Given the description of an element on the screen output the (x, y) to click on. 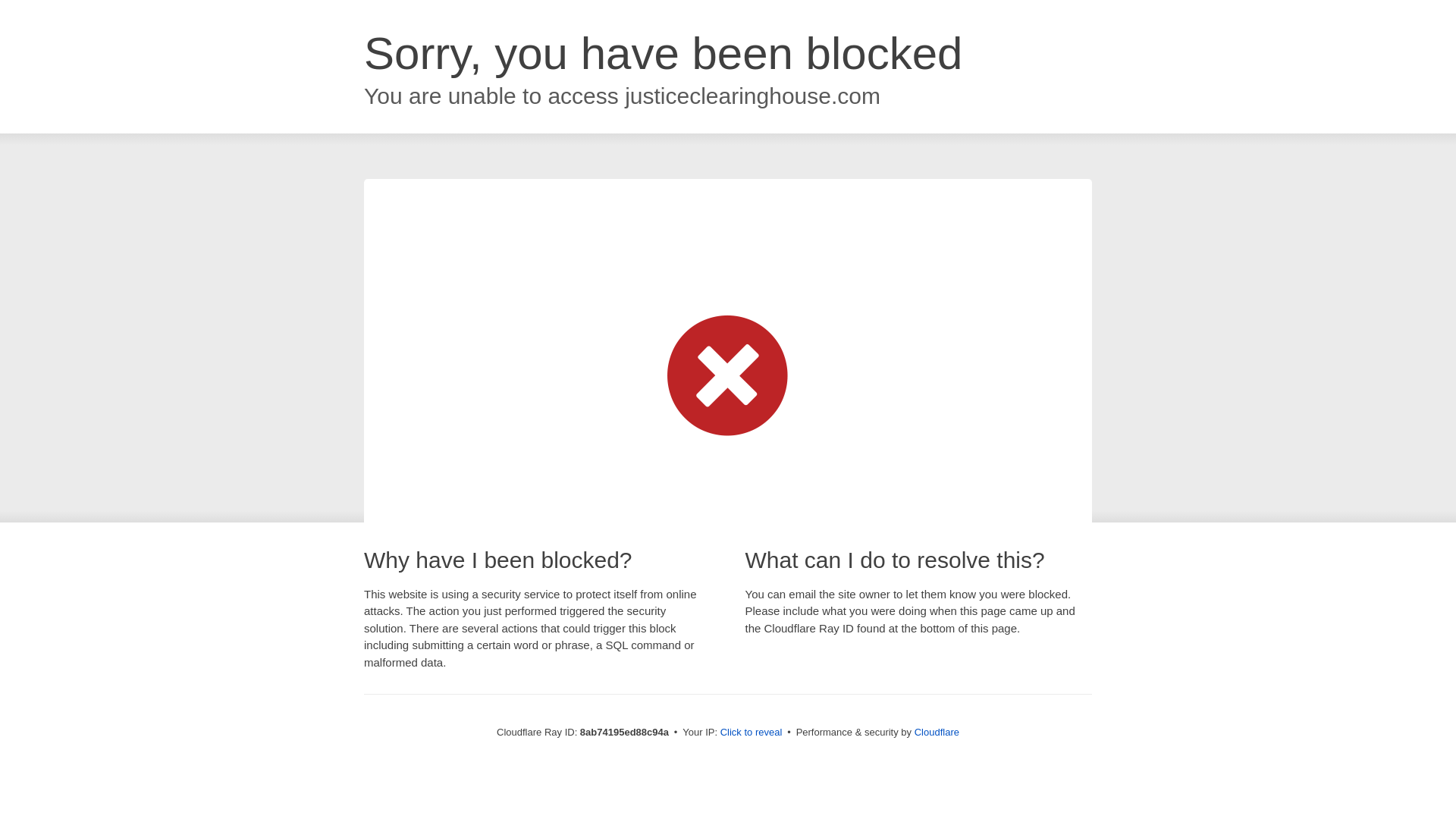
Click to reveal (751, 732)
Cloudflare (936, 731)
